Given the description of an element on the screen output the (x, y) to click on. 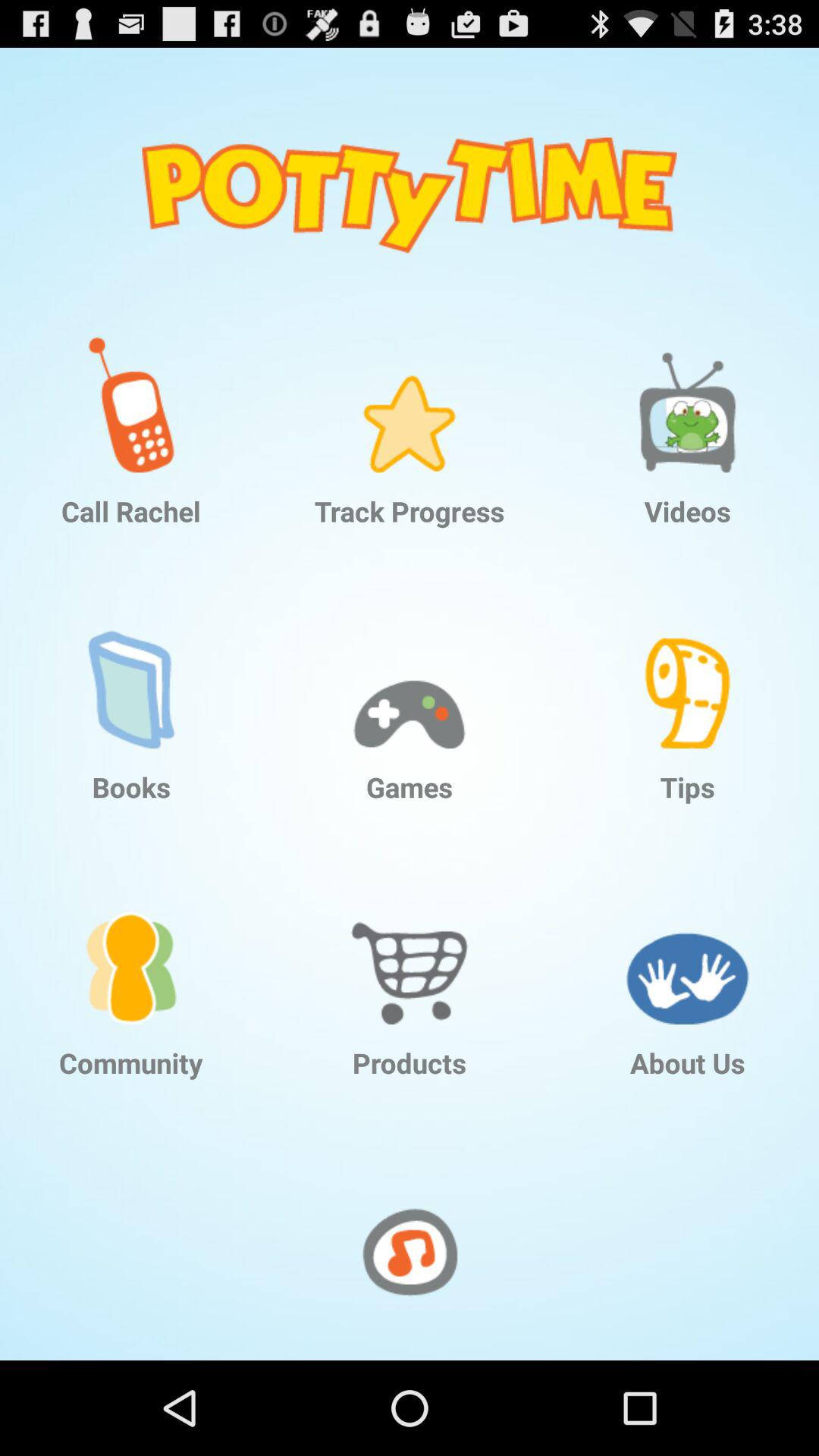
open item at the top left corner (131, 392)
